Given the description of an element on the screen output the (x, y) to click on. 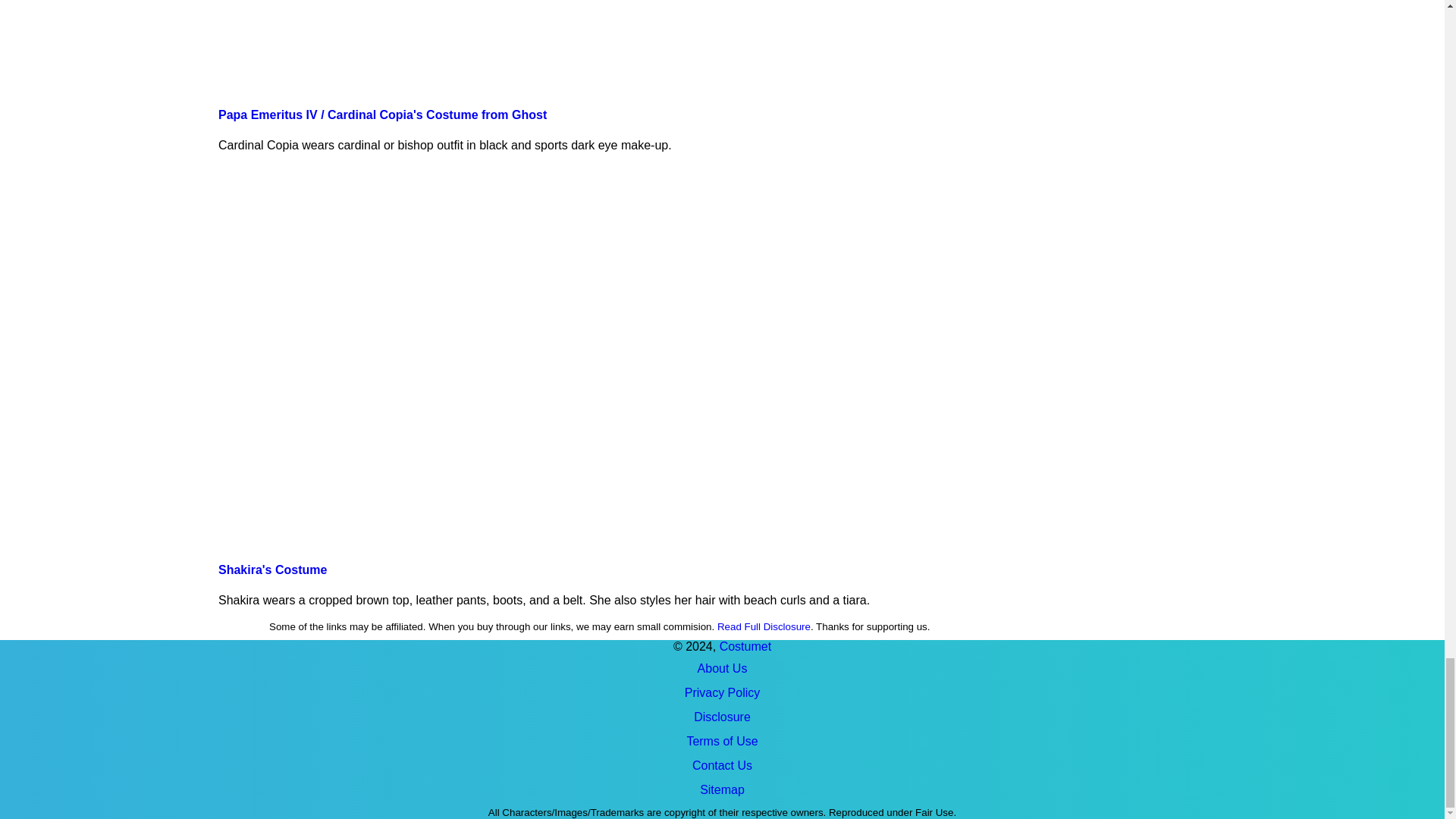
About Us (721, 669)
Contact Us (721, 765)
Costumet (745, 645)
Terms of Use (721, 741)
Sitemap (721, 790)
Disclosure (721, 717)
Sitemap (721, 790)
Privacy Policy (721, 692)
Privacy Policy (721, 692)
Contact Us (721, 765)
Shakira's Costume (272, 569)
Read Full Disclosure (763, 626)
Terms of Use (721, 741)
Disclosure (721, 717)
About Us (721, 669)
